Given the description of an element on the screen output the (x, y) to click on. 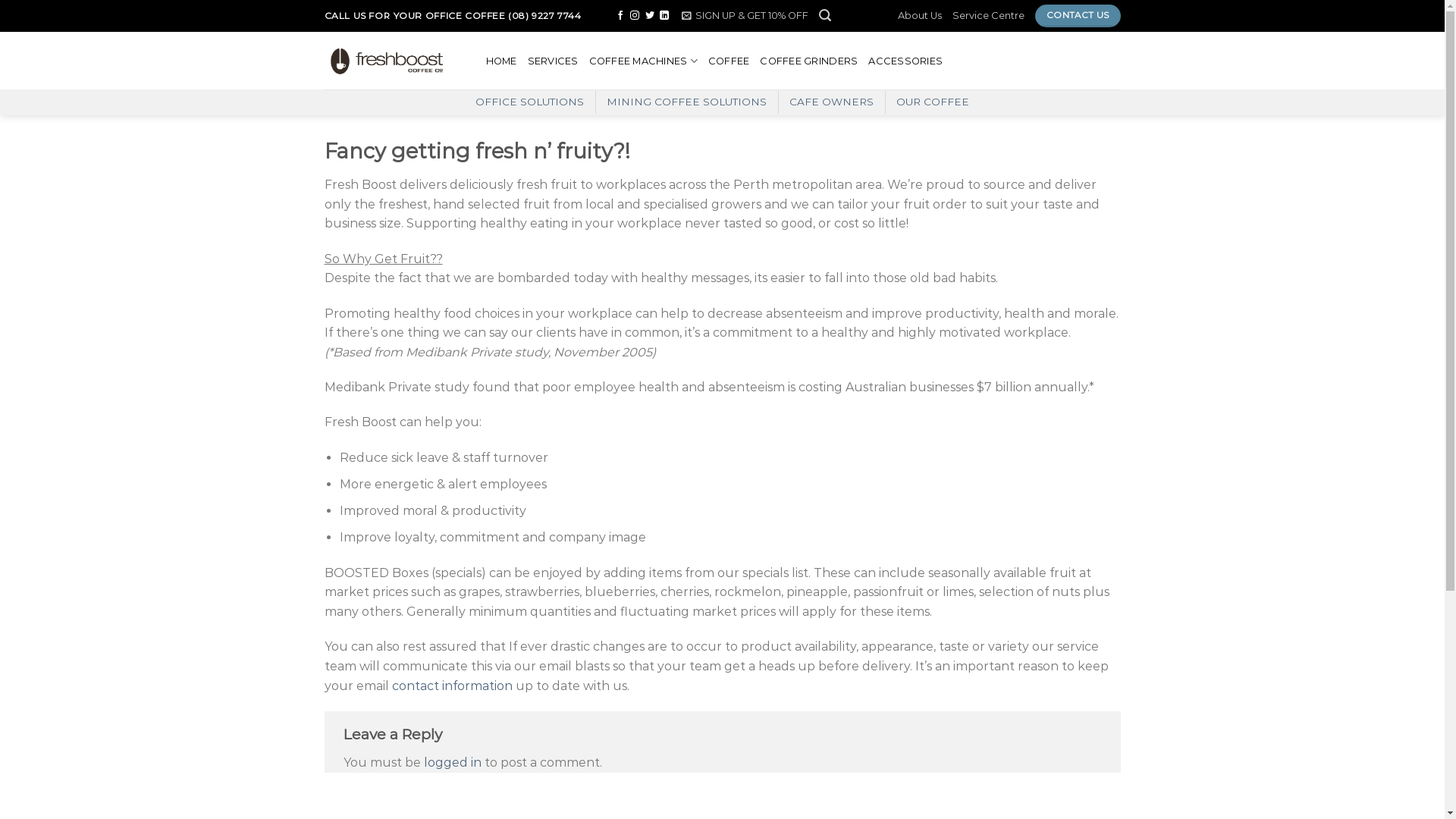
CAFE OWNERS Element type: text (831, 101)
CONTACT US Element type: text (1077, 15)
ACCESSORIES Element type: text (905, 60)
Follow on Facebook Element type: hover (619, 15)
COFFEE Element type: text (728, 60)
COFFEE GRINDERS Element type: text (808, 60)
logged in Element type: text (451, 762)
SERVICES Element type: text (552, 60)
Follow on Twitter Element type: hover (649, 15)
SIGN UP & GET 10% OFF Element type: text (744, 15)
OUR COFFEE Element type: text (932, 101)
Follow on Instagram Element type: hover (634, 15)
About Us Element type: text (919, 15)
contact information Element type: text (451, 685)
MINING COFFEE SOLUTIONS Element type: text (686, 101)
HOME Element type: text (500, 60)
OFFICE SOLUTIONS Element type: text (529, 101)
Follow on LinkedIn Element type: hover (663, 15)
Service Centre Element type: text (988, 15)
COFFEE MACHINES Element type: text (643, 60)
